Given the description of an element on the screen output the (x, y) to click on. 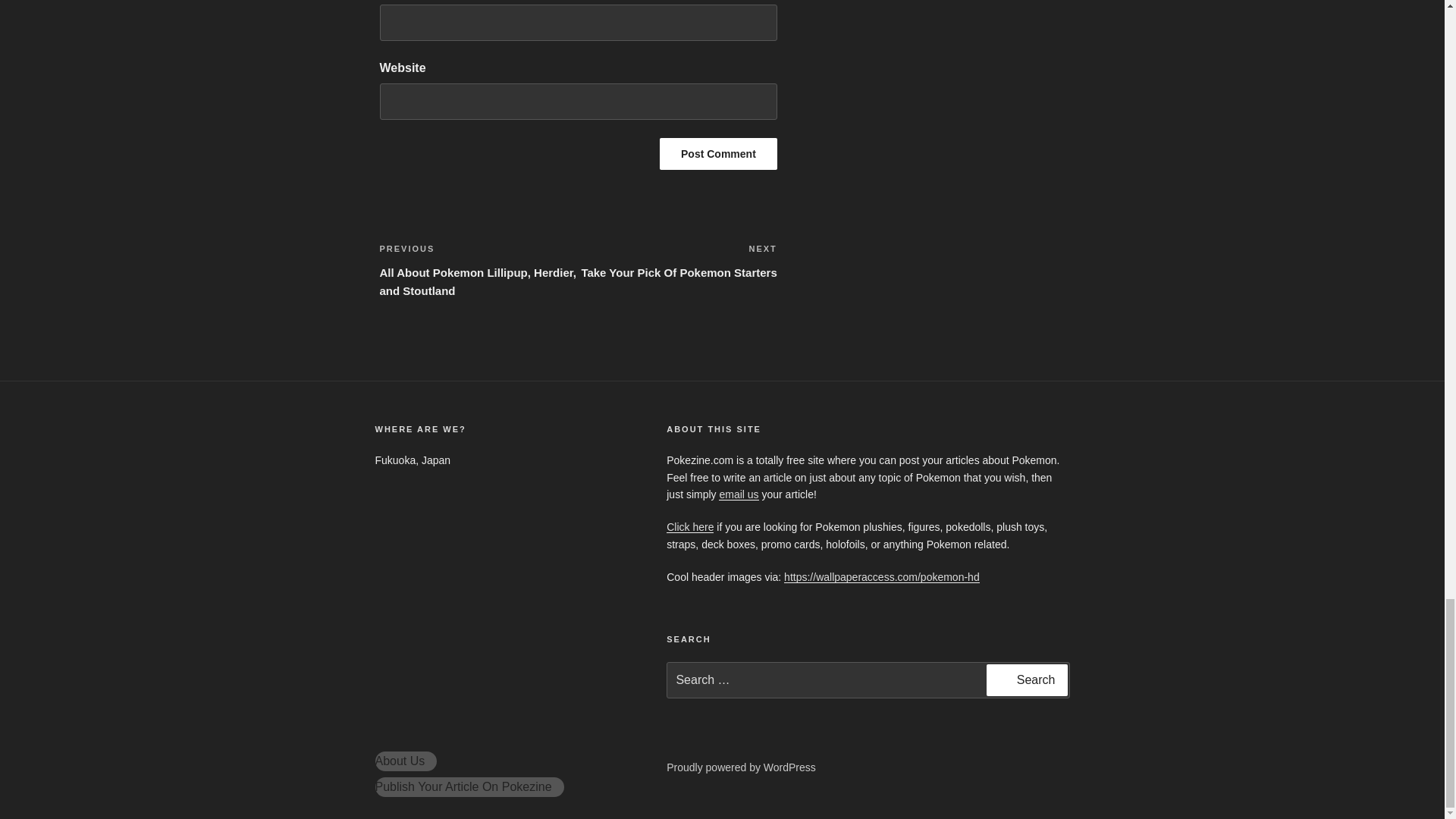
Post Comment (718, 153)
Post Comment (677, 260)
